Given the description of an element on the screen output the (x, y) to click on. 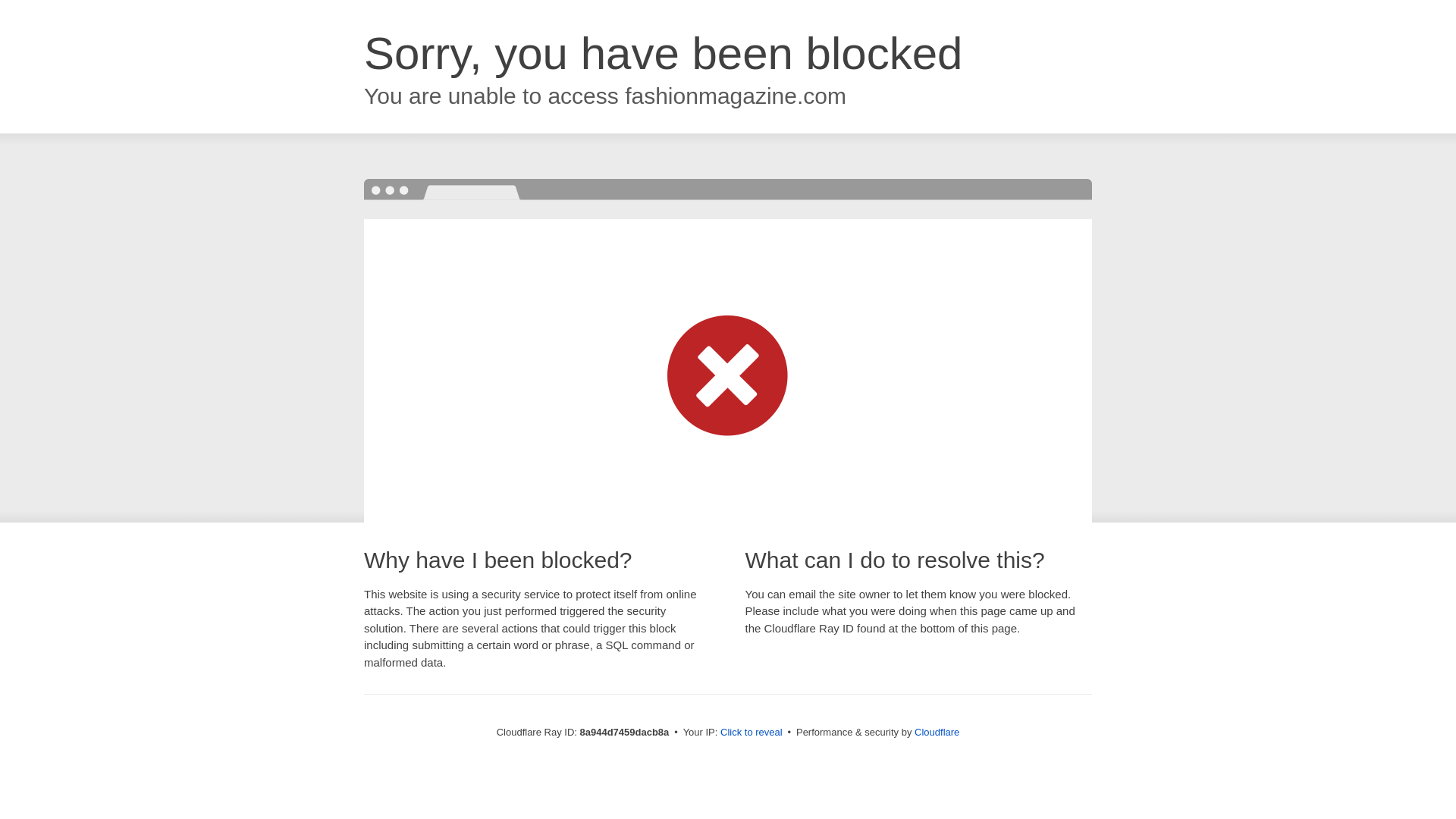
Cloudflare (936, 731)
Click to reveal (751, 732)
